Given the description of an element on the screen output the (x, y) to click on. 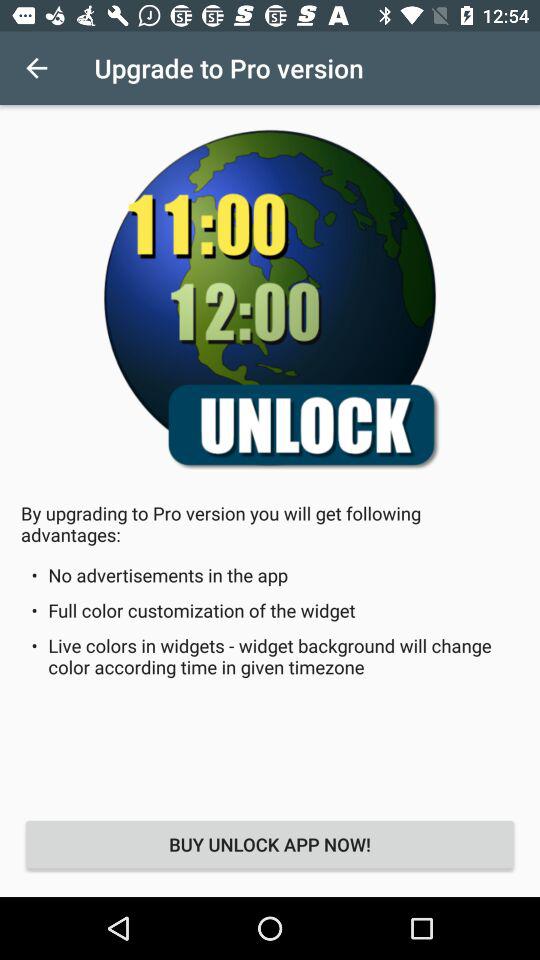
scroll to the buy unlock app item (270, 844)
